Given the description of an element on the screen output the (x, y) to click on. 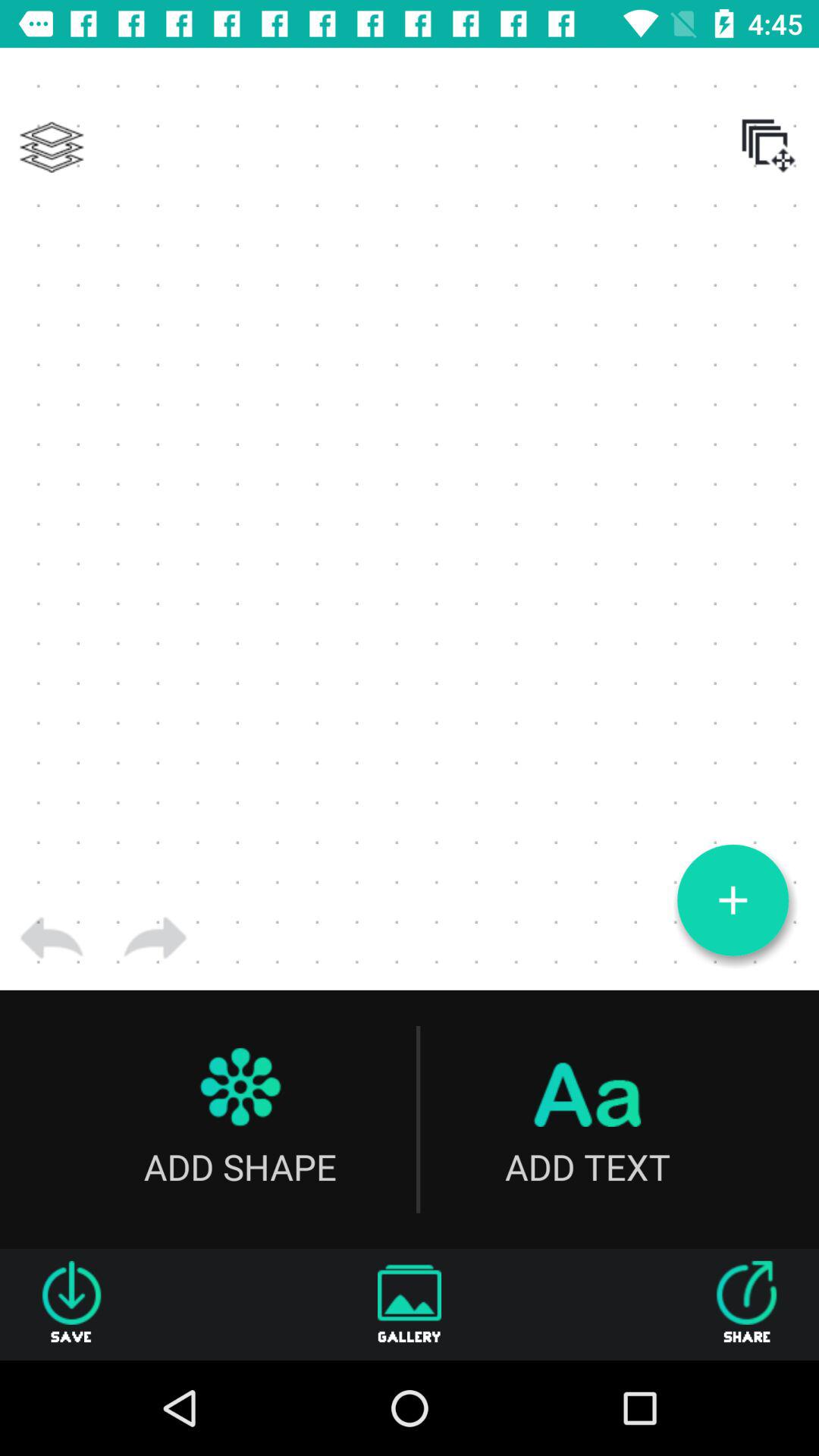
go next (155, 938)
